Given the description of an element on the screen output the (x, y) to click on. 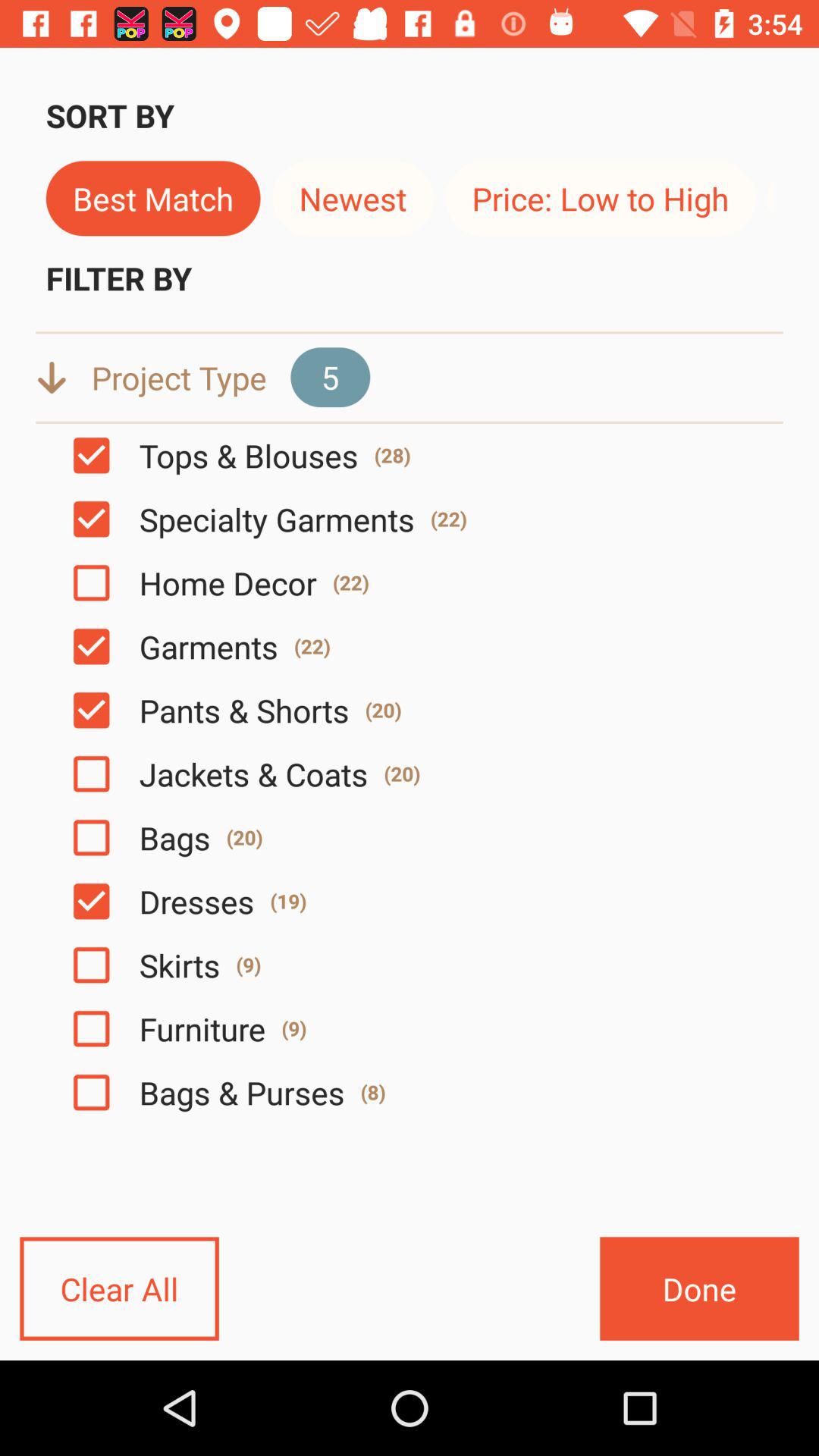
click on the check box which has the text garments 22 (91, 646)
select the check box which has the text pants  shorts 20 (91, 710)
click on the clear all button (119, 1288)
select the checkbox of the home decor (91, 582)
